Given the description of an element on the screen output the (x, y) to click on. 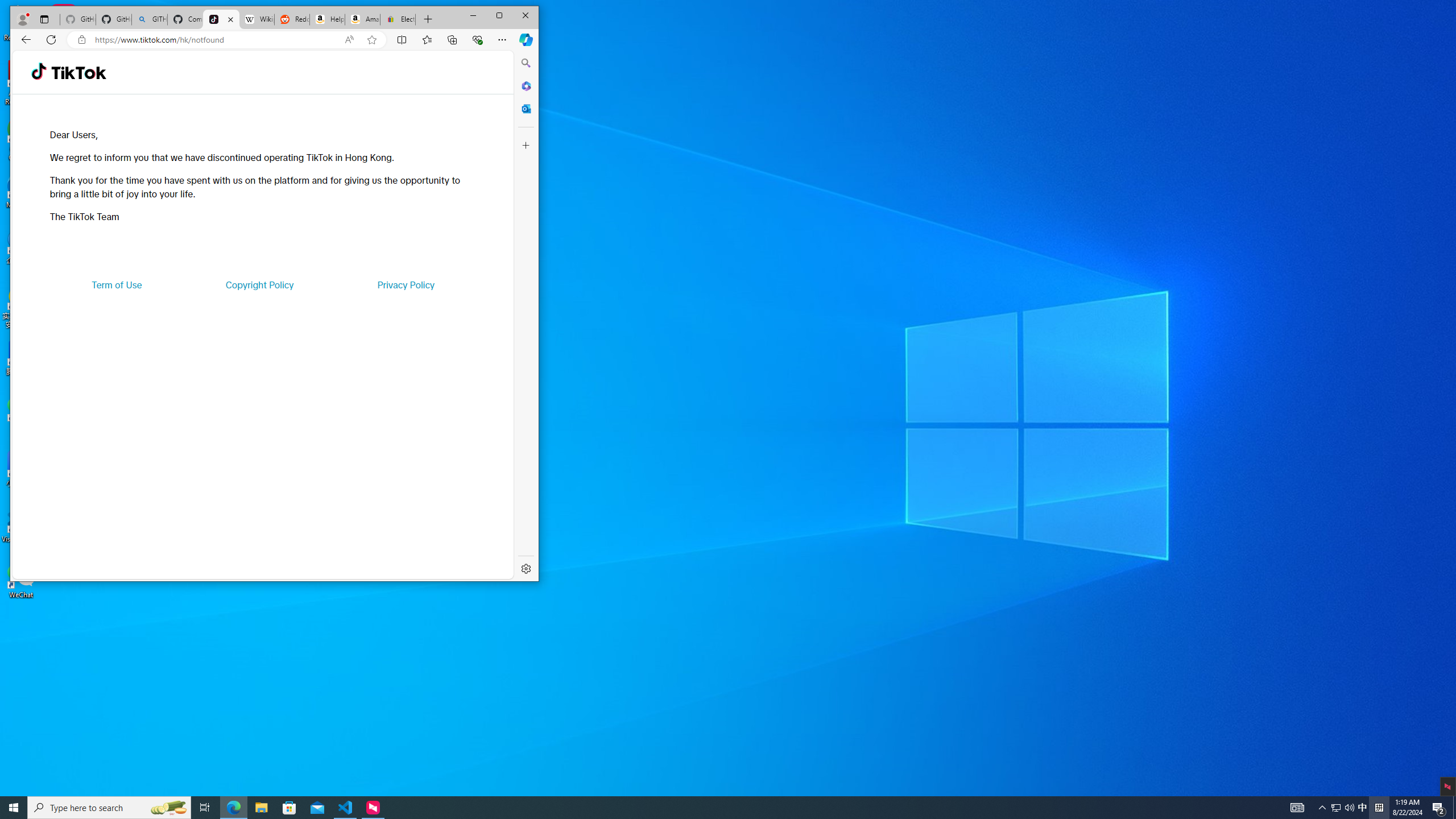
Notification Chevron (1322, 807)
Help & Contact Us - Amazon Customer Service (326, 19)
Microsoft Edge - 1 running window (233, 807)
Running applications (707, 807)
TikTok (221, 19)
Type here to search (108, 807)
Electronics, Cars, Fashion, Collectibles & More | eBay (397, 19)
